Given the description of an element on the screen output the (x, y) to click on. 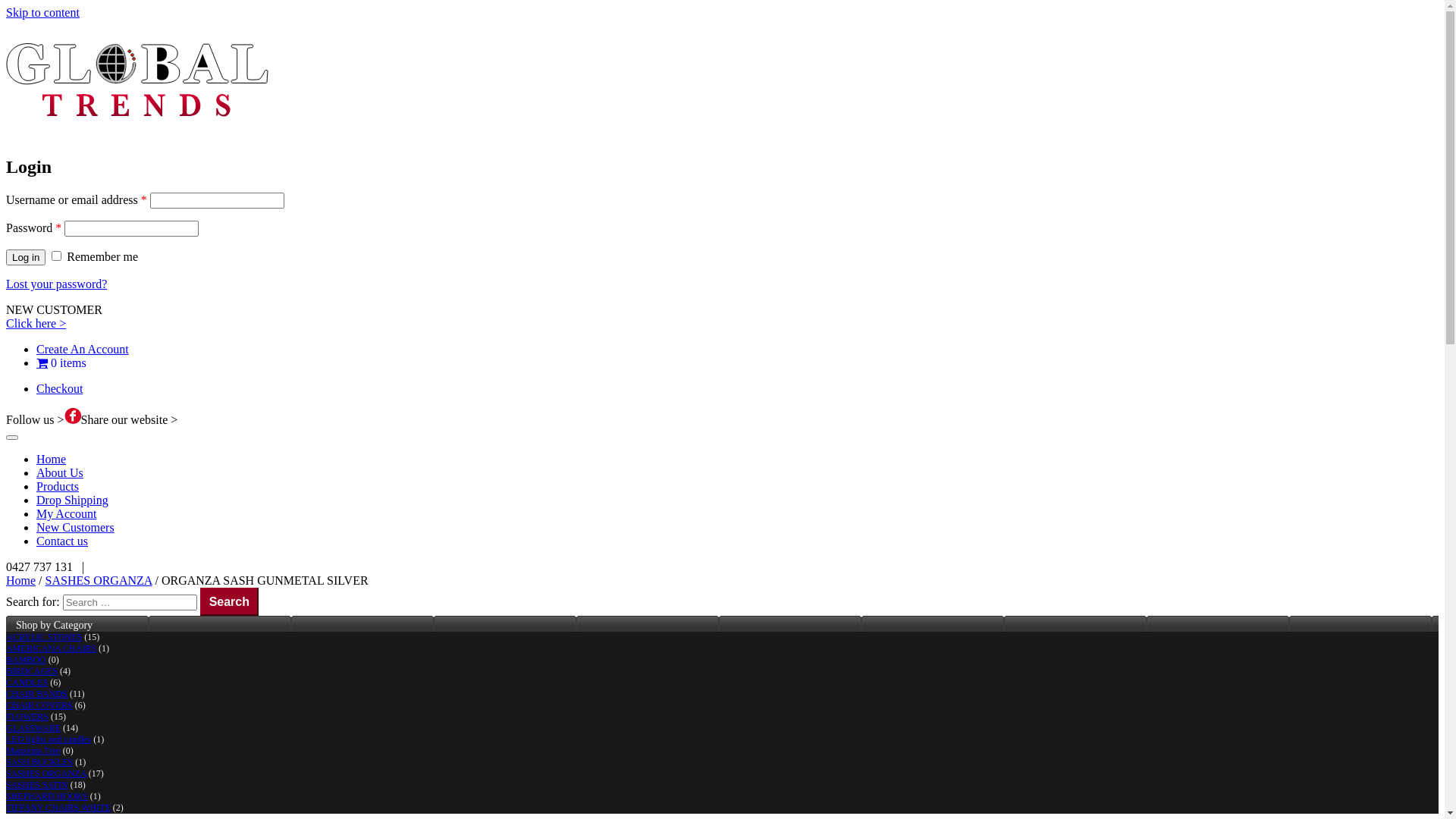
FLOWERS Element type: text (27, 716)
CHAIR BANDS Element type: text (36, 693)
ACRYLIC STONES Element type: text (43, 636)
Click here > Element type: text (35, 322)
Products Element type: text (57, 486)
BIRDCAGES Element type: text (31, 670)
Log in Element type: text (25, 257)
SASHES ORGANZA Element type: text (98, 580)
SASHES ORGANZA Element type: text (46, 773)
SASHES SATIN Element type: text (37, 784)
New Customers Element type: text (75, 526)
0 items Element type: text (61, 362)
BAMBOO Element type: text (26, 659)
LED lights and candles Element type: text (48, 739)
GLASSWARE Element type: text (33, 727)
Contact us Element type: text (61, 540)
Search Element type: text (229, 601)
Checkout Element type: text (59, 388)
Home Element type: text (50, 458)
Skip to content Element type: text (42, 12)
AMERICANA CHAIRS Element type: text (51, 648)
Drop Shipping Element type: text (72, 499)
TIFFANY CHAIRS WHITE Element type: text (58, 807)
Home Element type: text (20, 580)
SHEPHARD HOOKS Element type: text (46, 795)
About Us Element type: text (59, 472)
Lost your password? Element type: text (56, 283)
CHAIR COVERS Element type: text (39, 704)
Manzenta Tree Element type: text (33, 750)
Create An Account Element type: text (82, 348)
My Account Element type: text (66, 513)
CANDLES Element type: text (26, 682)
SASH BUCKLES Element type: text (39, 761)
